Given the description of an element on the screen output the (x, y) to click on. 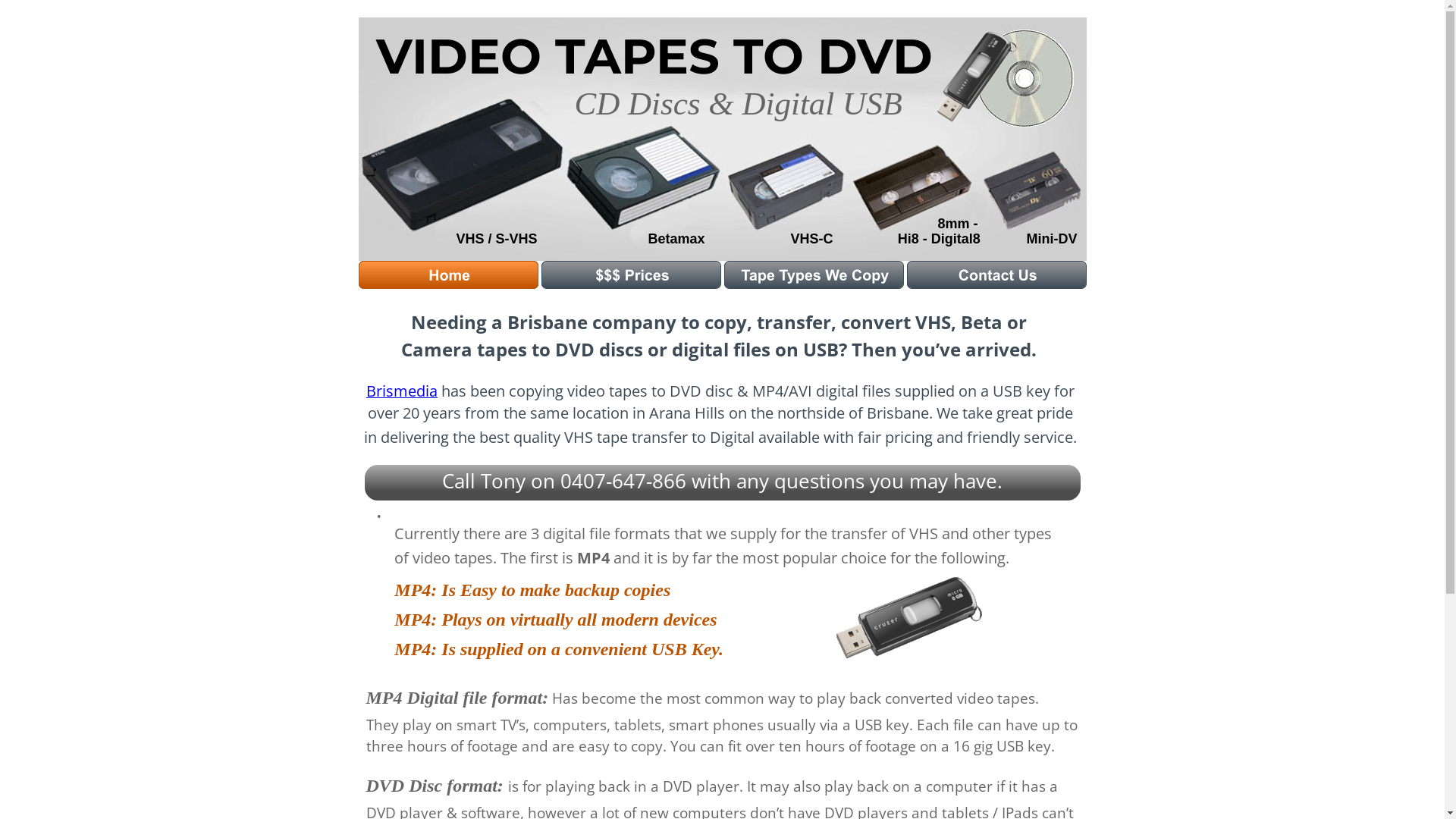
Brismedia Element type: text (401, 390)
